Given the description of an element on the screen output the (x, y) to click on. 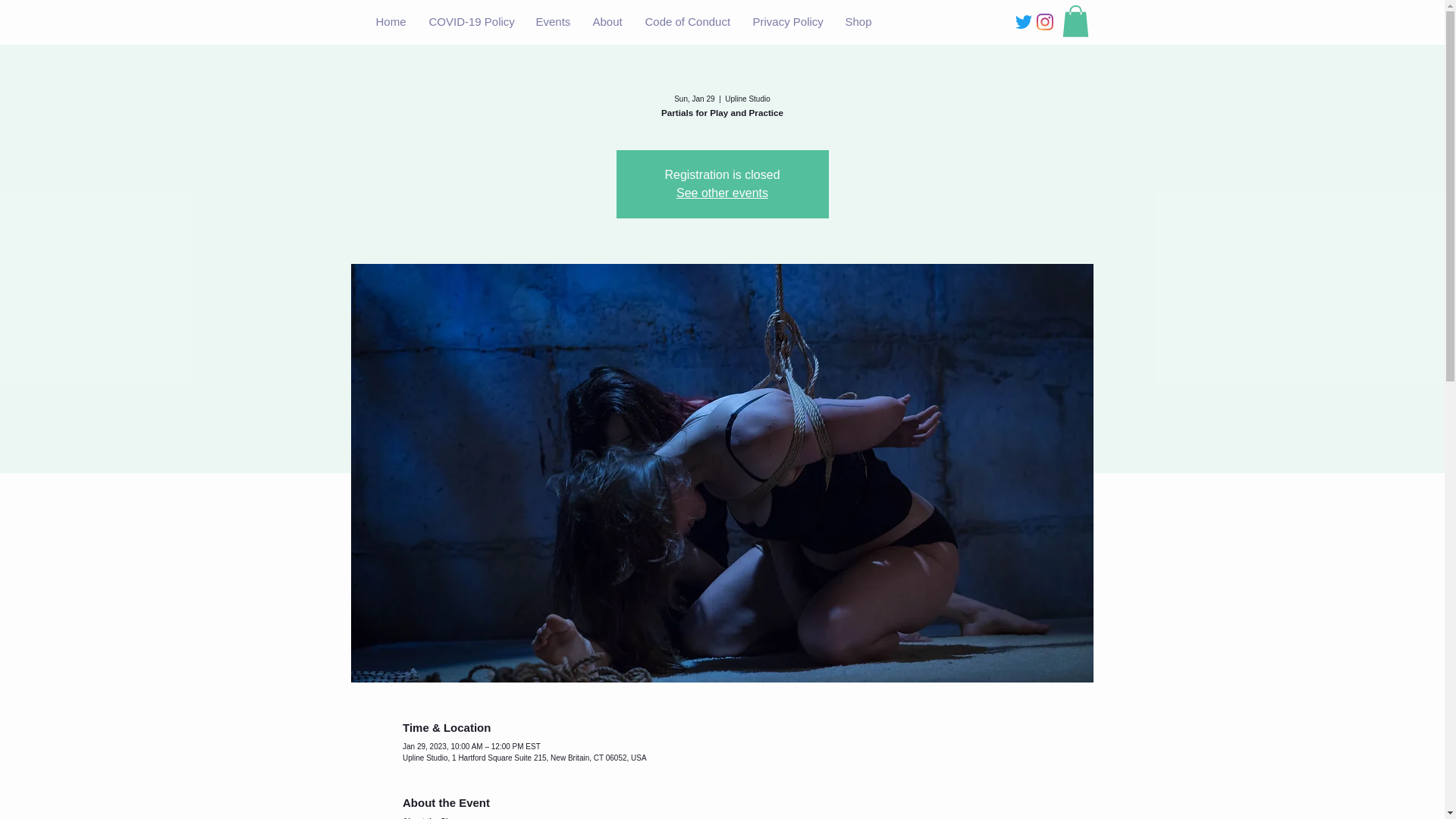
Home (390, 21)
About (606, 21)
COVID-19 Policy (470, 21)
Privacy Policy (787, 21)
Events (552, 21)
Code of Conduct (687, 21)
See other events (722, 192)
Shop (858, 21)
